Given the description of an element on the screen output the (x, y) to click on. 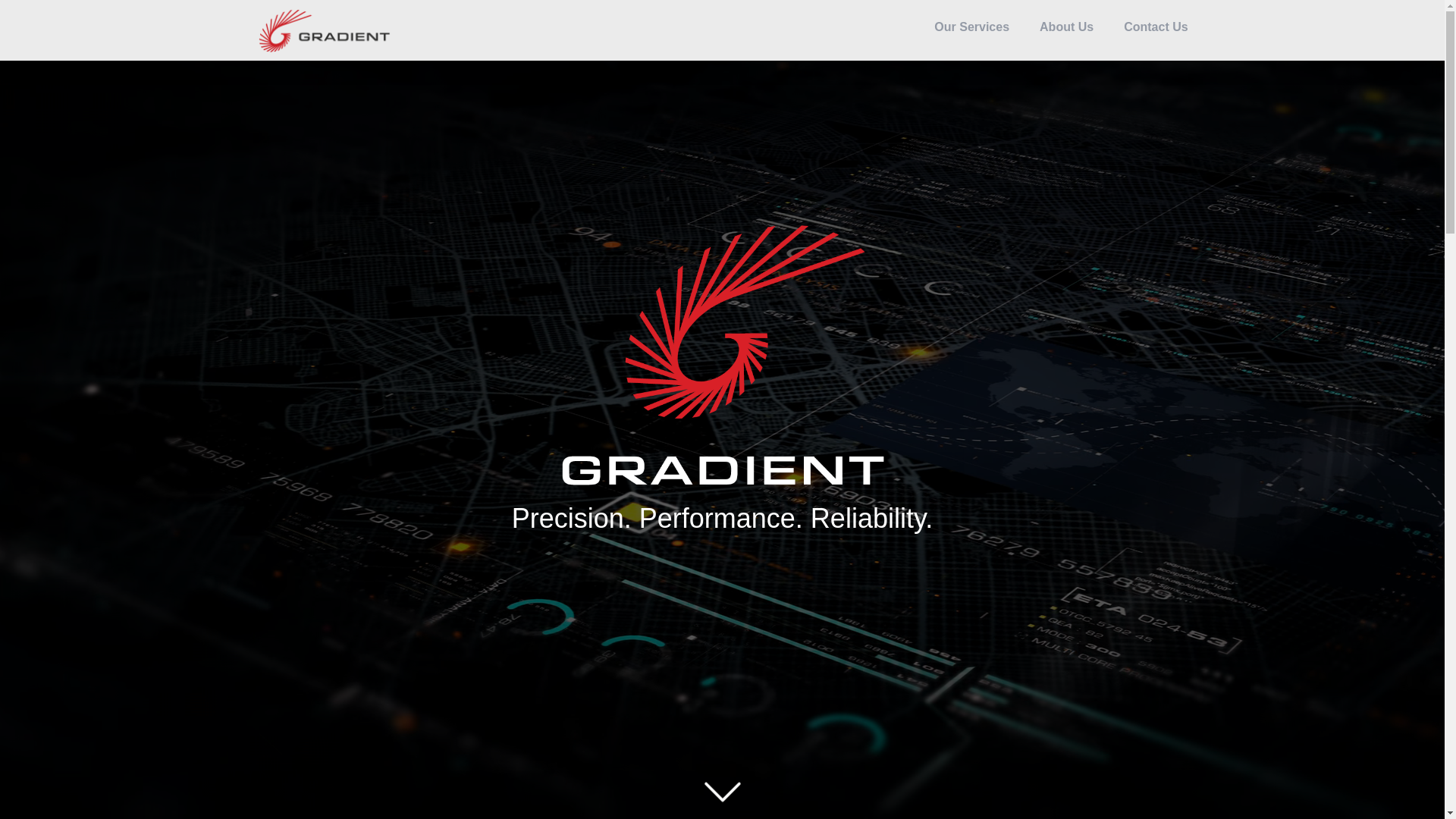
Our Services Element type: text (971, 28)
About Us Element type: text (1066, 28)
Contact Us Element type: text (1155, 30)
